Given the description of an element on the screen output the (x, y) to click on. 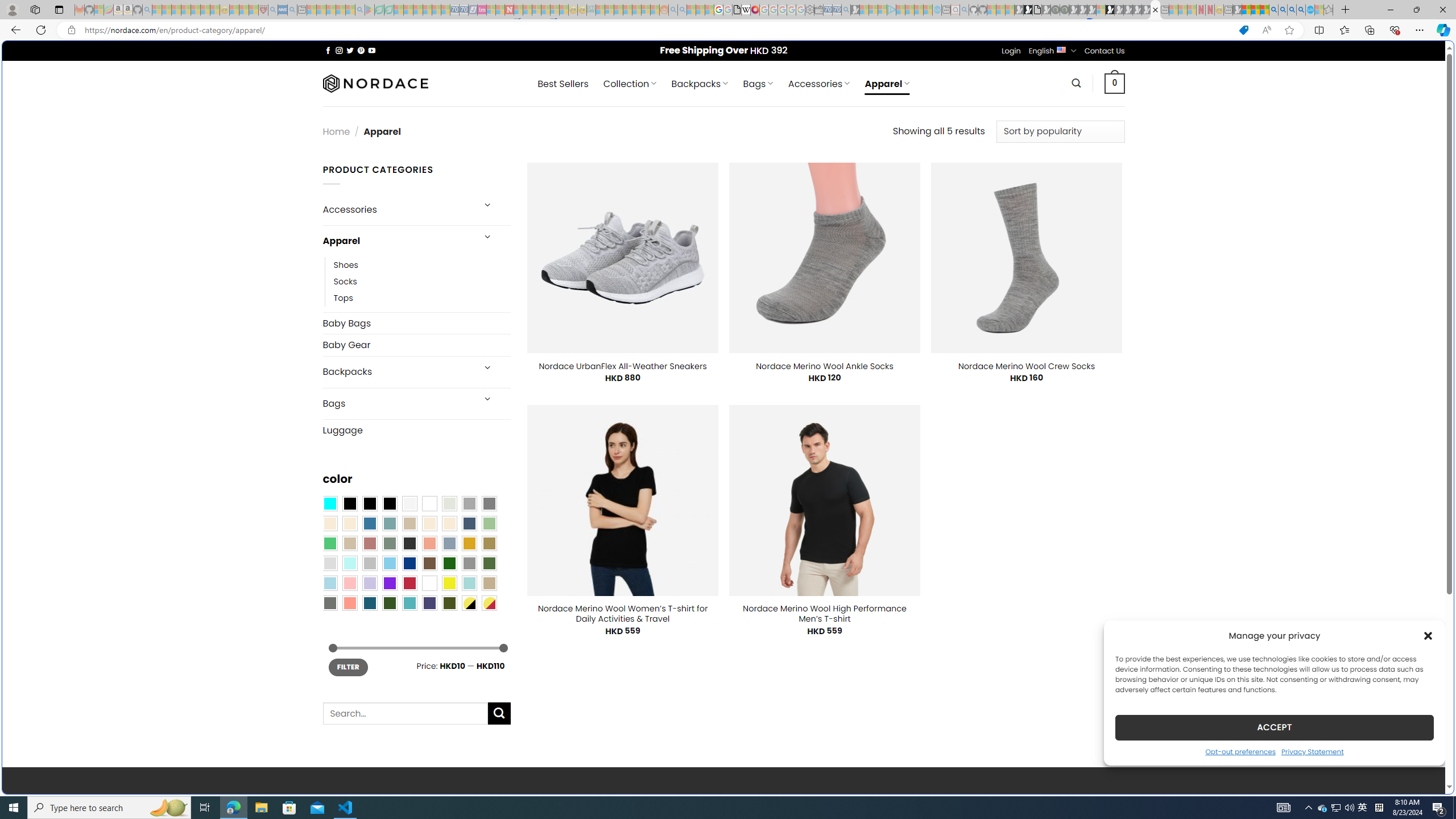
Clear (429, 503)
Nordace Merino Wool Crew Socks (1026, 365)
Aqua (468, 582)
Latest Politics News & Archive | Newsweek.com - Sleeping (508, 9)
Class: cmplz-close (1428, 635)
Close split screen (1208, 57)
Local - MSN - Sleeping (253, 9)
